Given the description of an element on the screen output the (x, y) to click on. 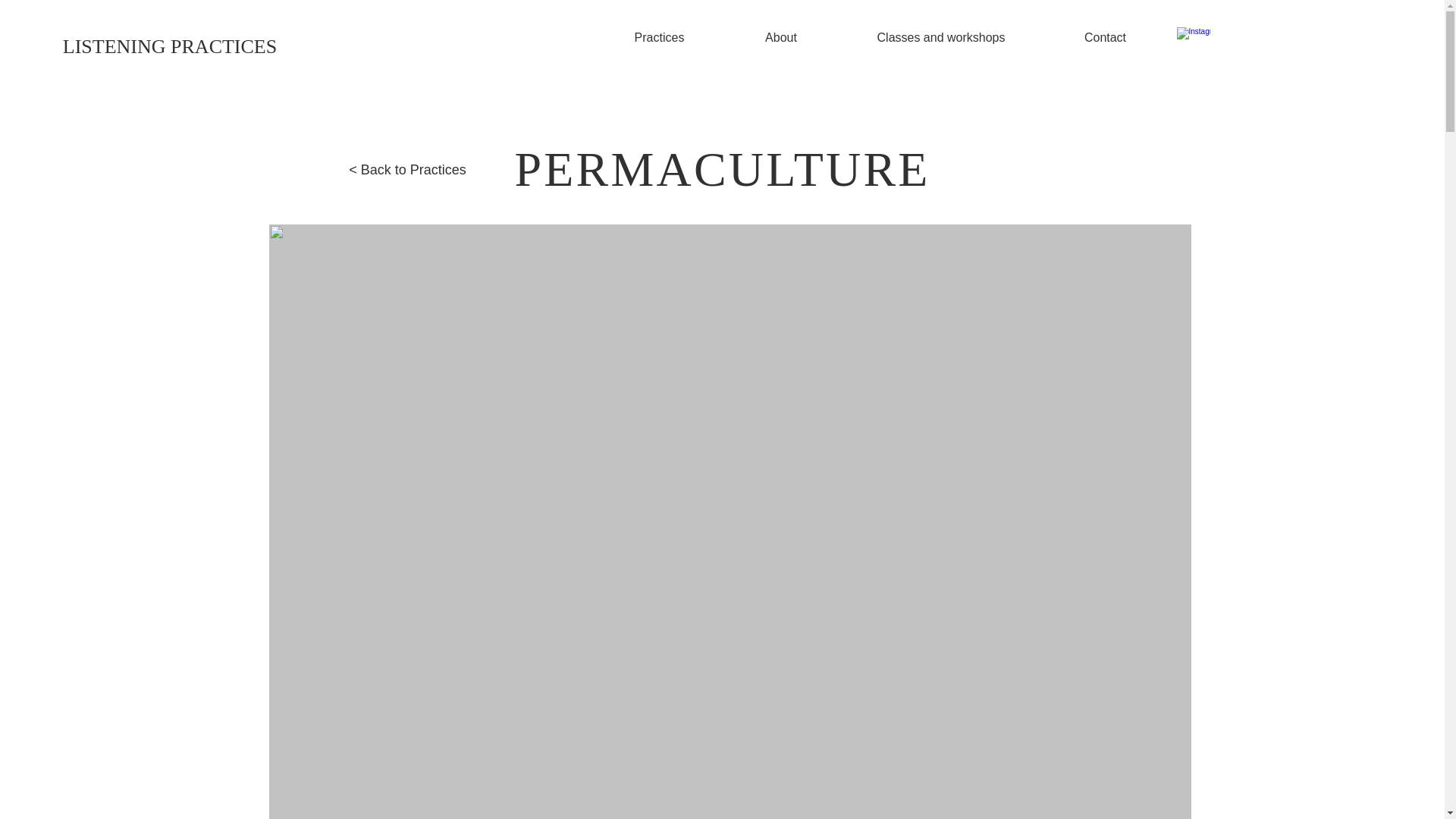
Contact (1104, 37)
Classes and workshops (940, 37)
LISTENING PRACTICES (170, 46)
Practices (658, 37)
About (780, 37)
